Given the description of an element on the screen output the (x, y) to click on. 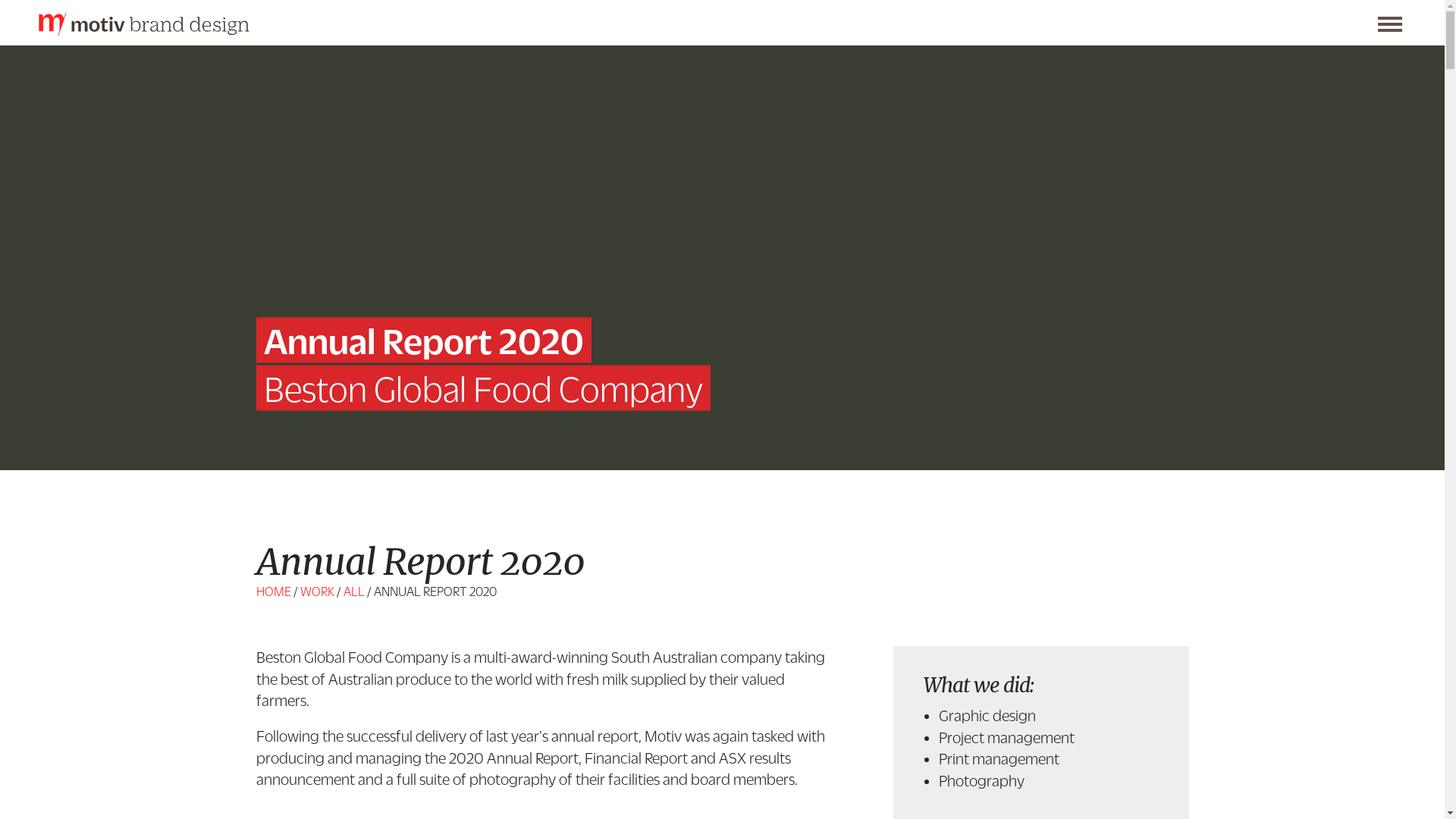
Toggle menu Element type: text (1389, 23)
Motiv Brand Design Element type: hover (143, 29)
WORK Element type: text (317, 591)
ALL Element type: text (353, 591)
HOME Element type: text (273, 591)
